Given the description of an element on the screen output the (x, y) to click on. 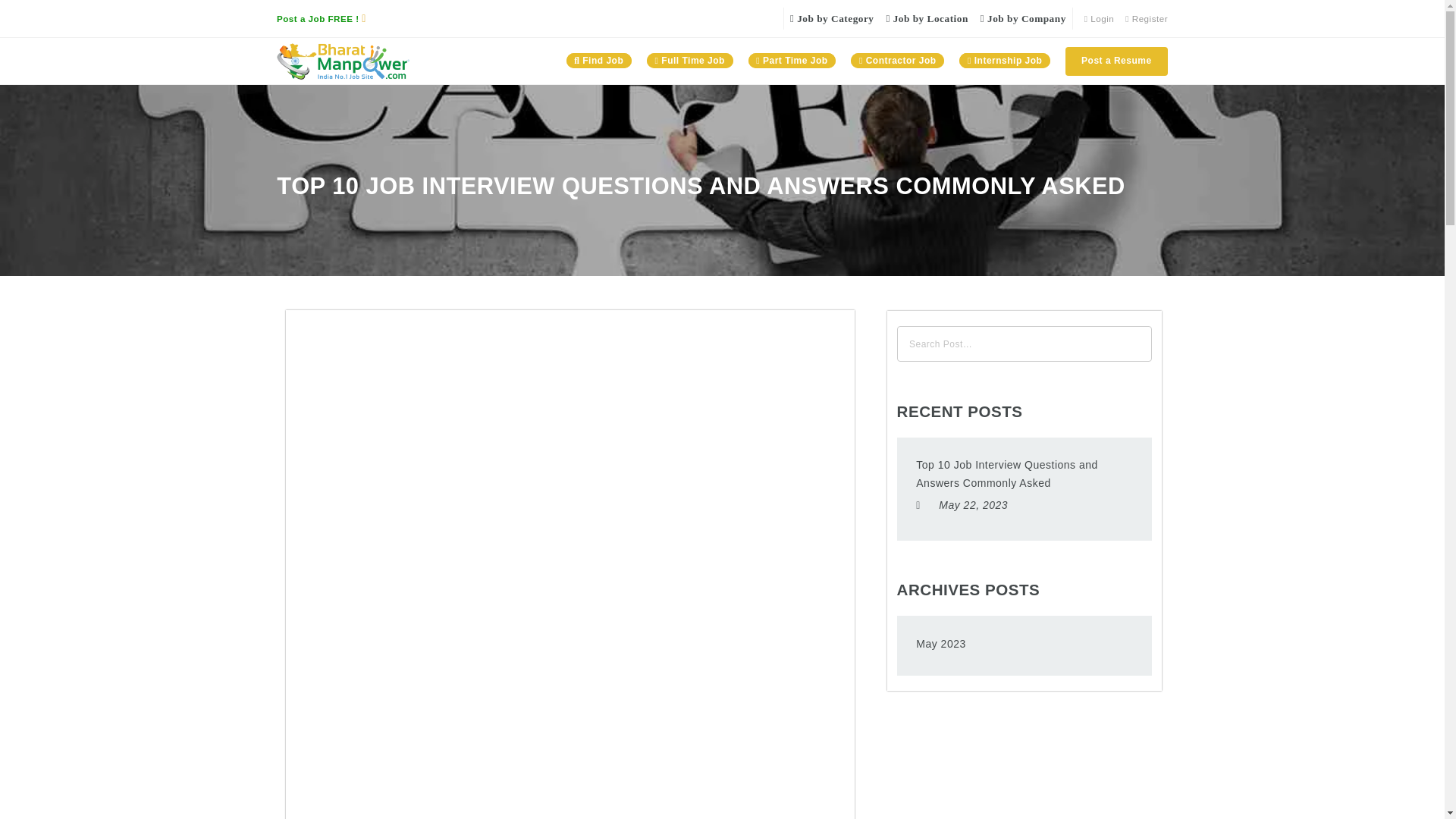
India No.1 Job Site (342, 60)
Top 10 Job Interview Questions and Answers Commonly Asked (1023, 474)
 Register (1146, 18)
   Contractor Job   (897, 60)
   Full Time Job   (690, 60)
Job by Company (1023, 18)
Job by Category (831, 18)
   Find Job   (599, 60)
 Login (1098, 18)
   Internship Job   (1005, 60)
Search for: (1023, 343)
   Part Time Job   (792, 60)
Job by Location (927, 18)
Post a Resume (1116, 61)
May 2023 (940, 644)
